Given the description of an element on the screen output the (x, y) to click on. 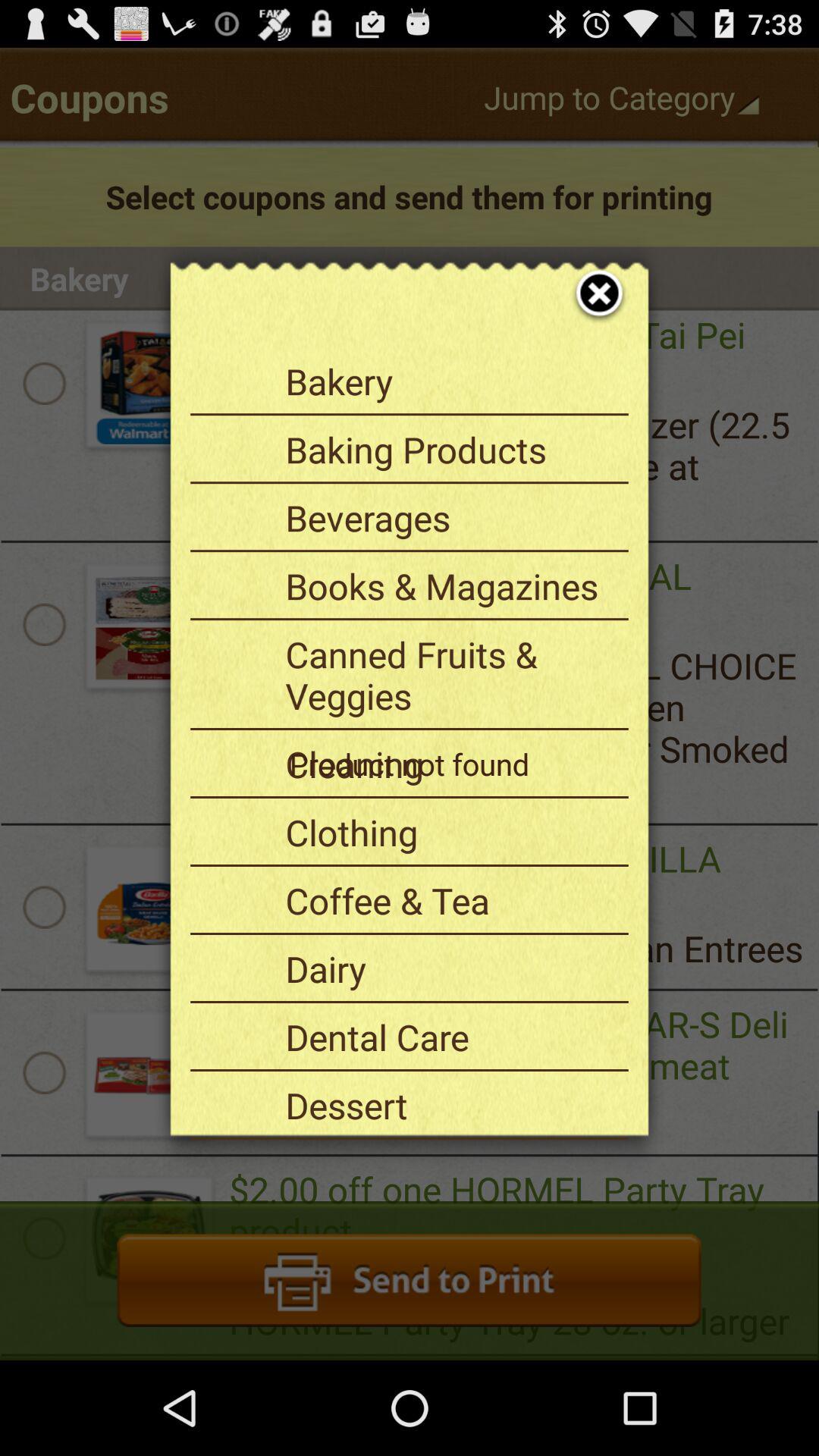
click app above the coffee & tea item (451, 831)
